Given the description of an element on the screen output the (x, y) to click on. 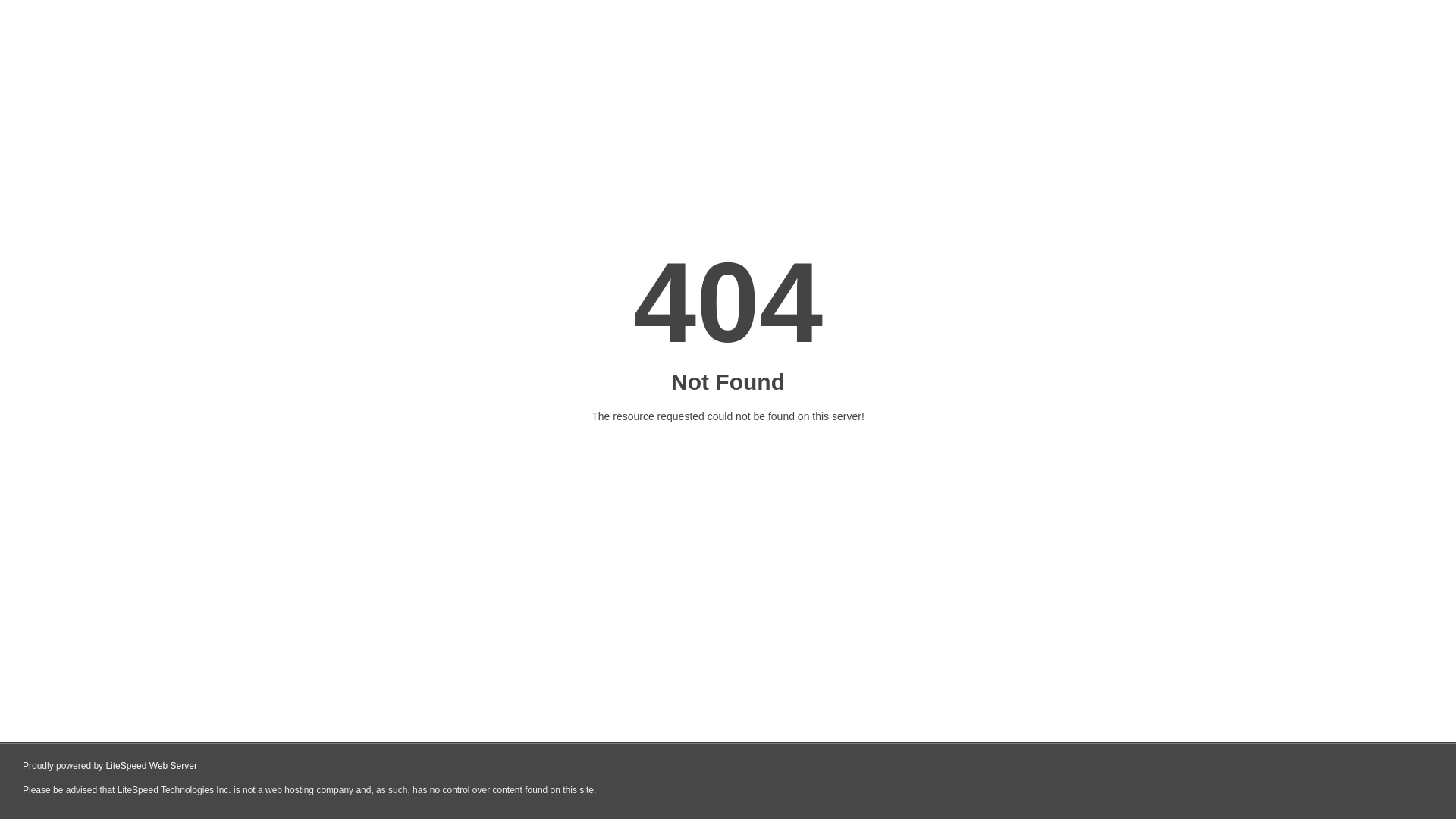
LiteSpeed Web Server Element type: text (151, 765)
